Given the description of an element on the screen output the (x, y) to click on. 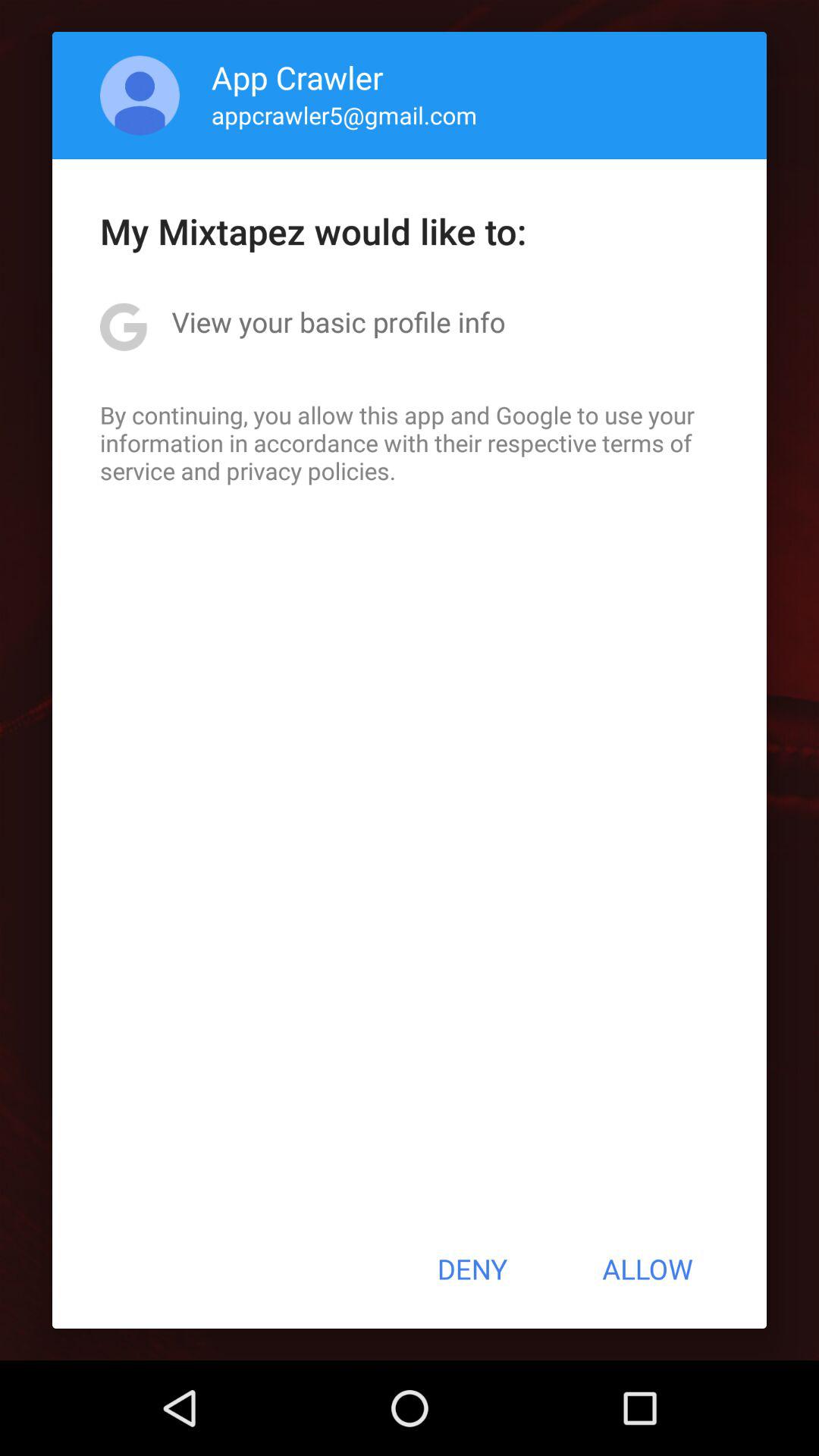
flip until the appcrawler5@gmail.com icon (344, 114)
